Given the description of an element on the screen output the (x, y) to click on. 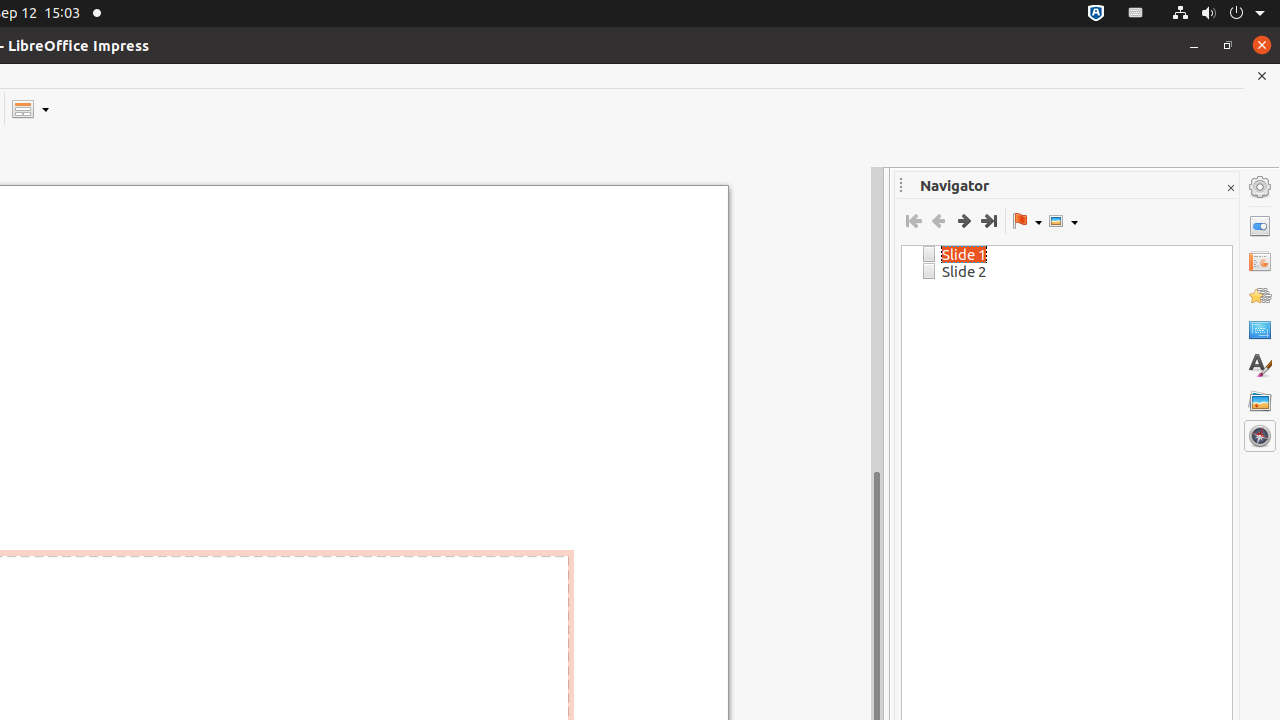
Navigator Element type: radio-button (1260, 436)
Previous Slide Element type: push-button (938, 221)
Animation Element type: radio-button (1260, 296)
Master Slides Element type: radio-button (1260, 331)
